Given the description of an element on the screen output the (x, y) to click on. 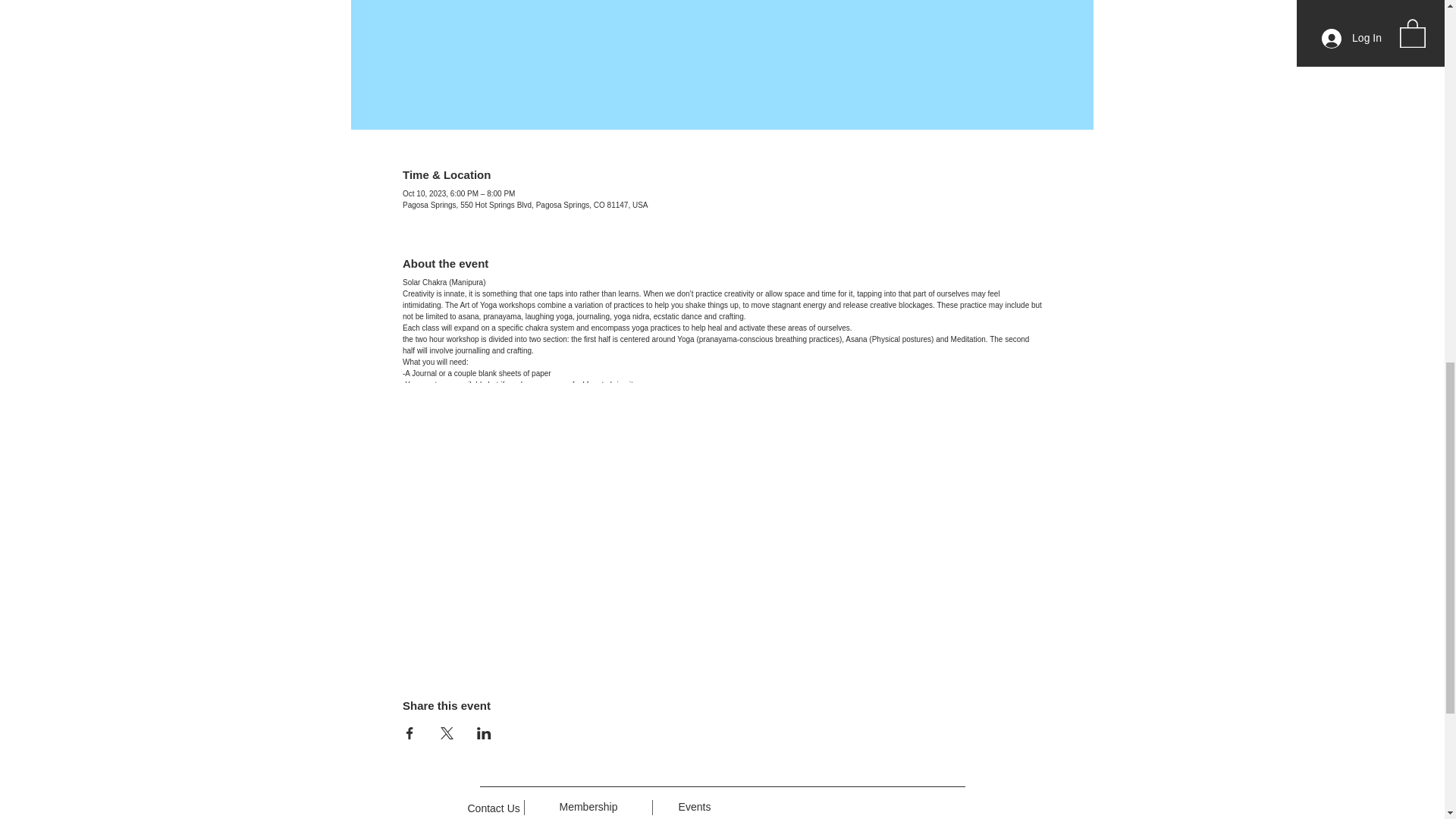
Events (694, 807)
Contact Us (493, 809)
Membership (587, 807)
